Given the description of an element on the screen output the (x, y) to click on. 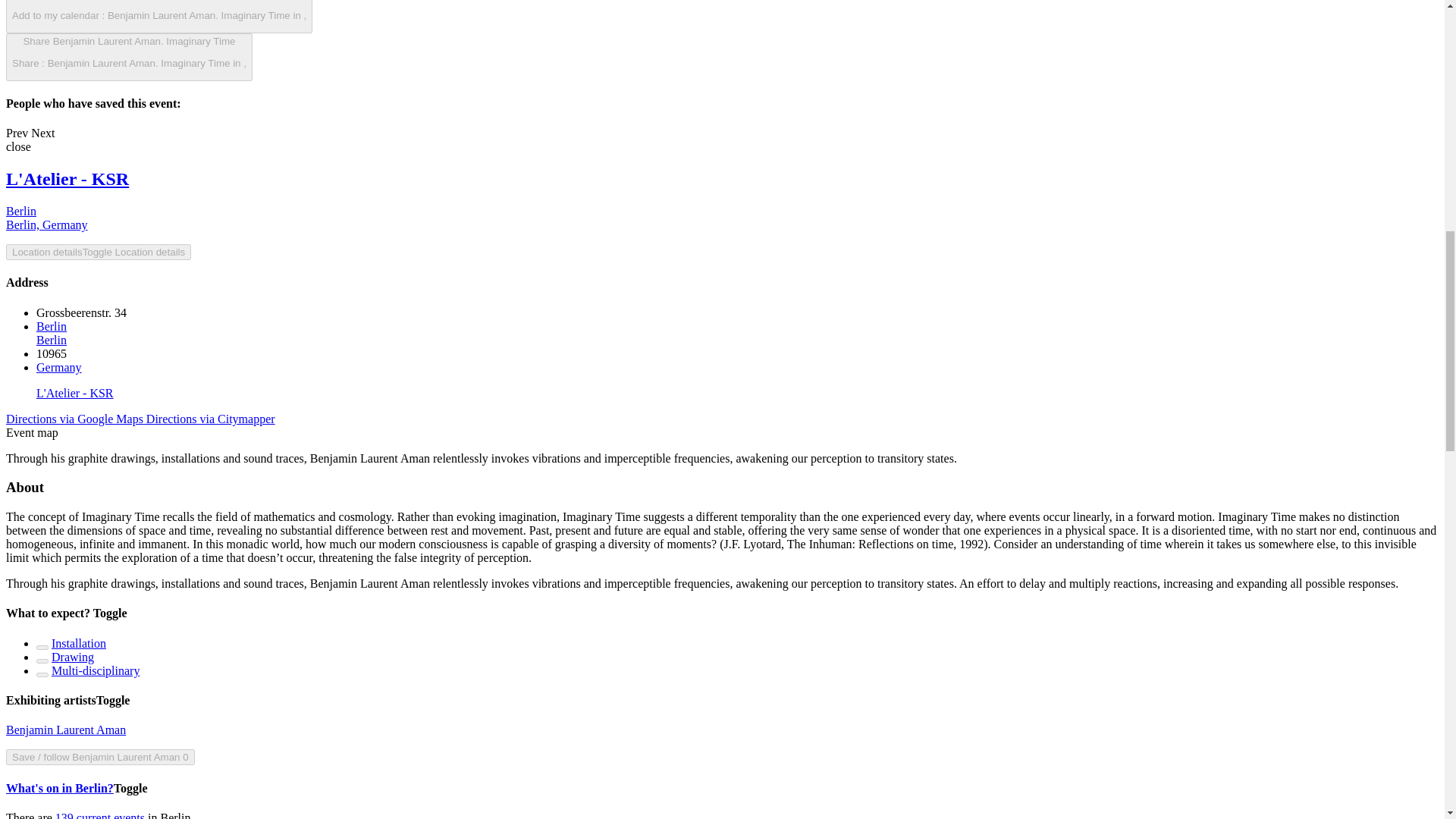
Multi-disciplinary (46, 217)
Installation (94, 670)
L'Atelier - KSR (78, 643)
Location detailsToggle Location details (67, 178)
close (97, 252)
Prev (17, 146)
Drawing (16, 132)
Directions via Citymapper (51, 333)
Directions via Google Maps (72, 656)
Germany (211, 418)
Next (76, 418)
L'Atelier - KSR (58, 367)
